Given the description of an element on the screen output the (x, y) to click on. 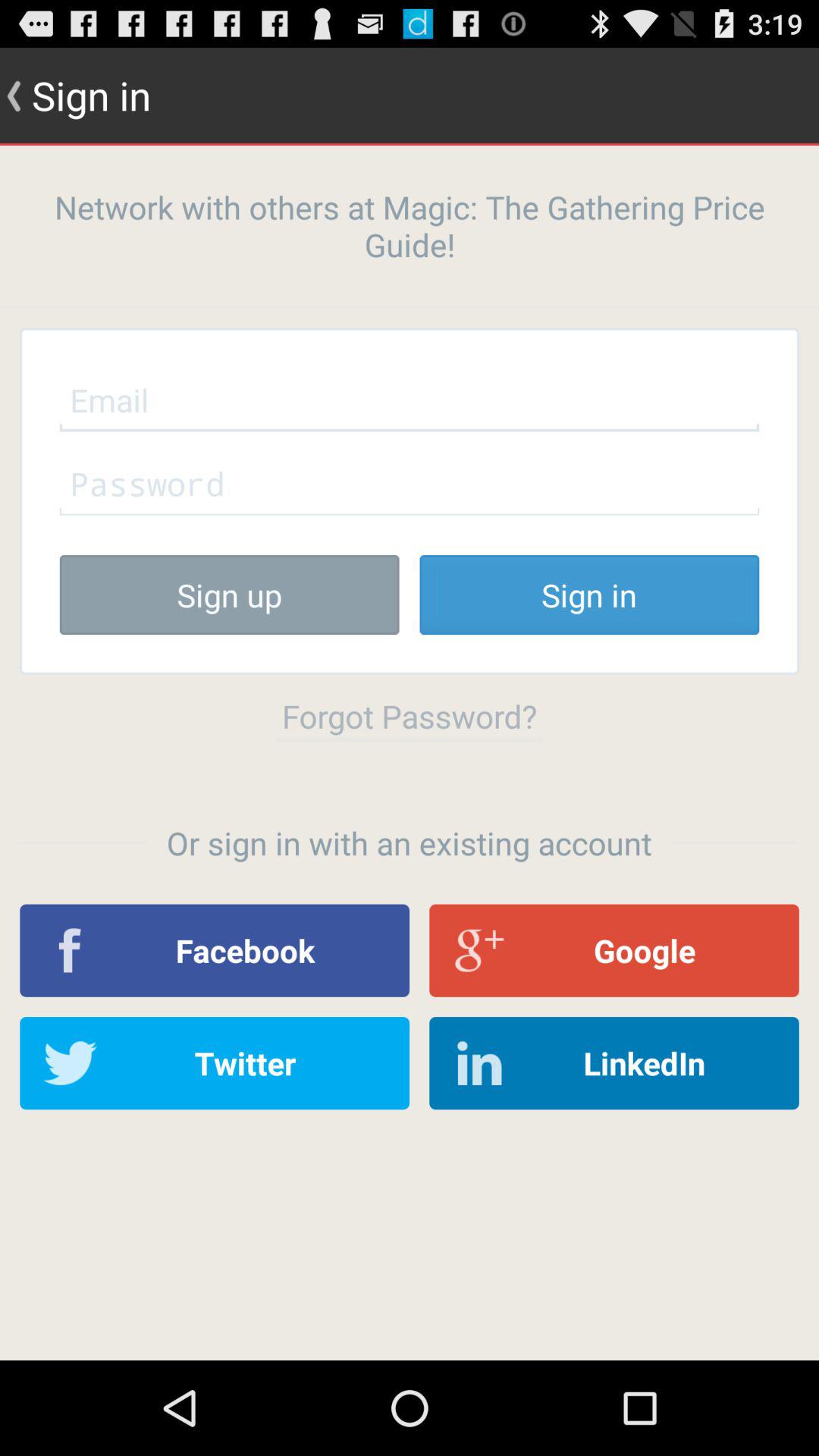
choose icon to the right of the facebook app (614, 950)
